Given the description of an element on the screen output the (x, y) to click on. 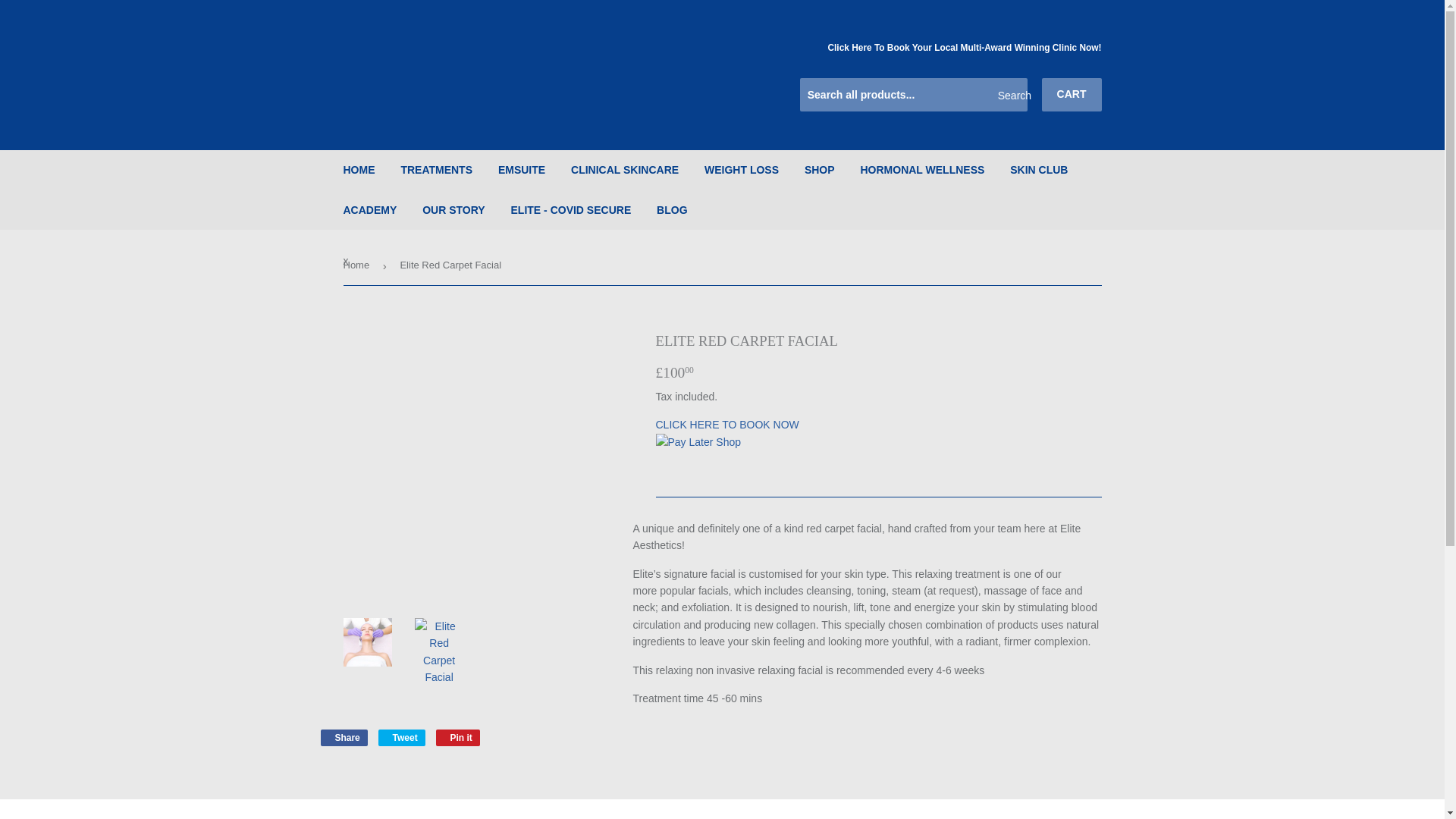
CART (1072, 94)
Share on Facebook (343, 737)
CLINICAL SKINCARE (624, 169)
SKIN CLUB (1038, 169)
Search (1009, 95)
HOME (359, 169)
WEIGHT LOSS (741, 169)
HORMONAL WELLNESS (921, 169)
Tweet on Twitter (401, 737)
Pin on Pinterest (457, 737)
EMSUITE (521, 169)
TREATMENTS (435, 169)
SHOP (819, 169)
ACADEMY (370, 210)
